Given the description of an element on the screen output the (x, y) to click on. 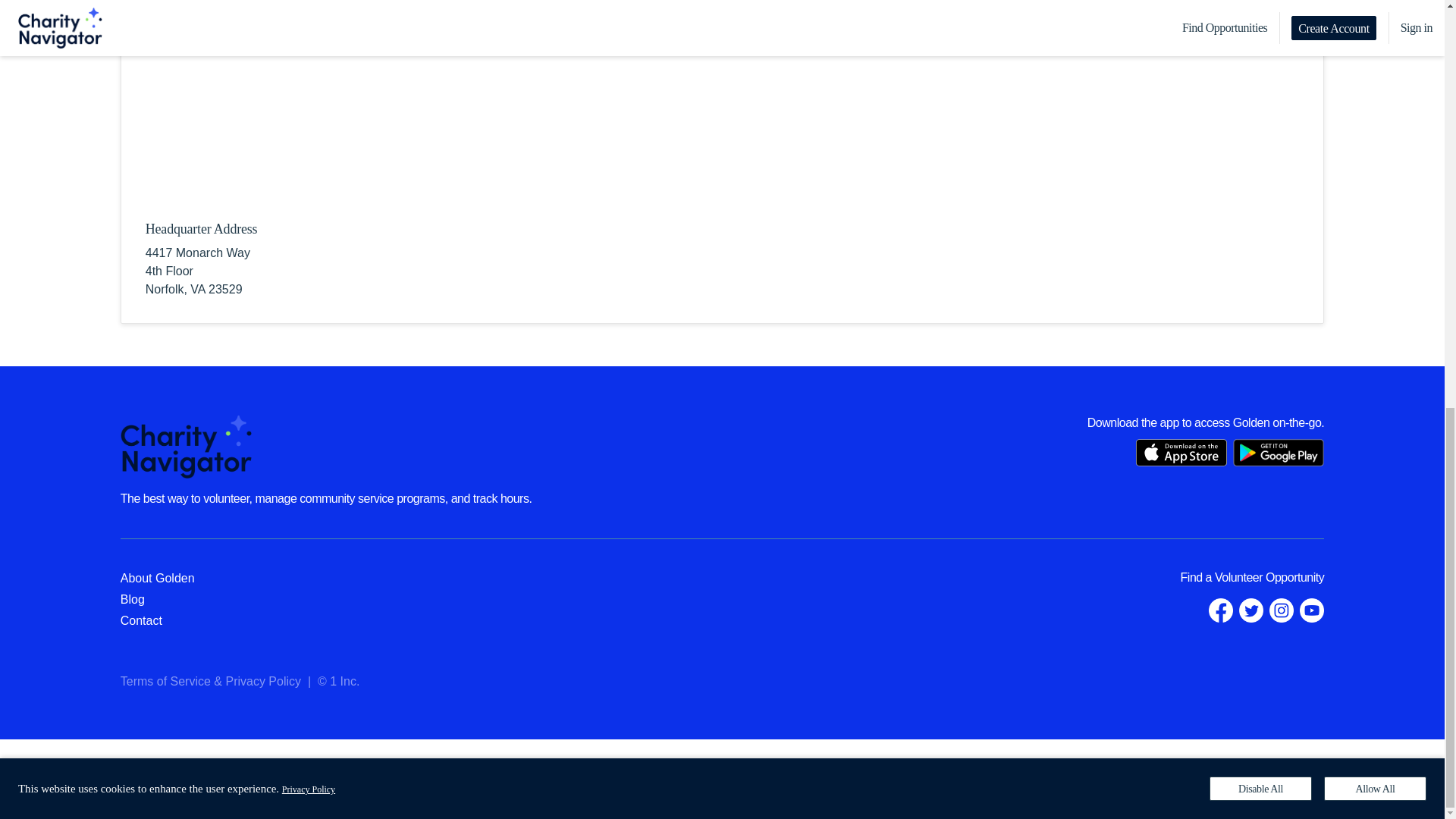
Visit Us On Facebook (1220, 609)
Play Store Link (1278, 452)
Blog (132, 599)
Visit Us On YouTube (1311, 609)
Blog (132, 599)
Terms of Service (165, 680)
Volunteer Opportunity (1268, 576)
AppStore Link (1181, 452)
Visit Us On Instagram (1281, 609)
About Golden (157, 577)
Privacy Policy (263, 680)
Contact (140, 620)
Volunteer Opportunity (1268, 576)
Visit Us On Twitter (1251, 609)
Contact (140, 620)
